Given the description of an element on the screen output the (x, y) to click on. 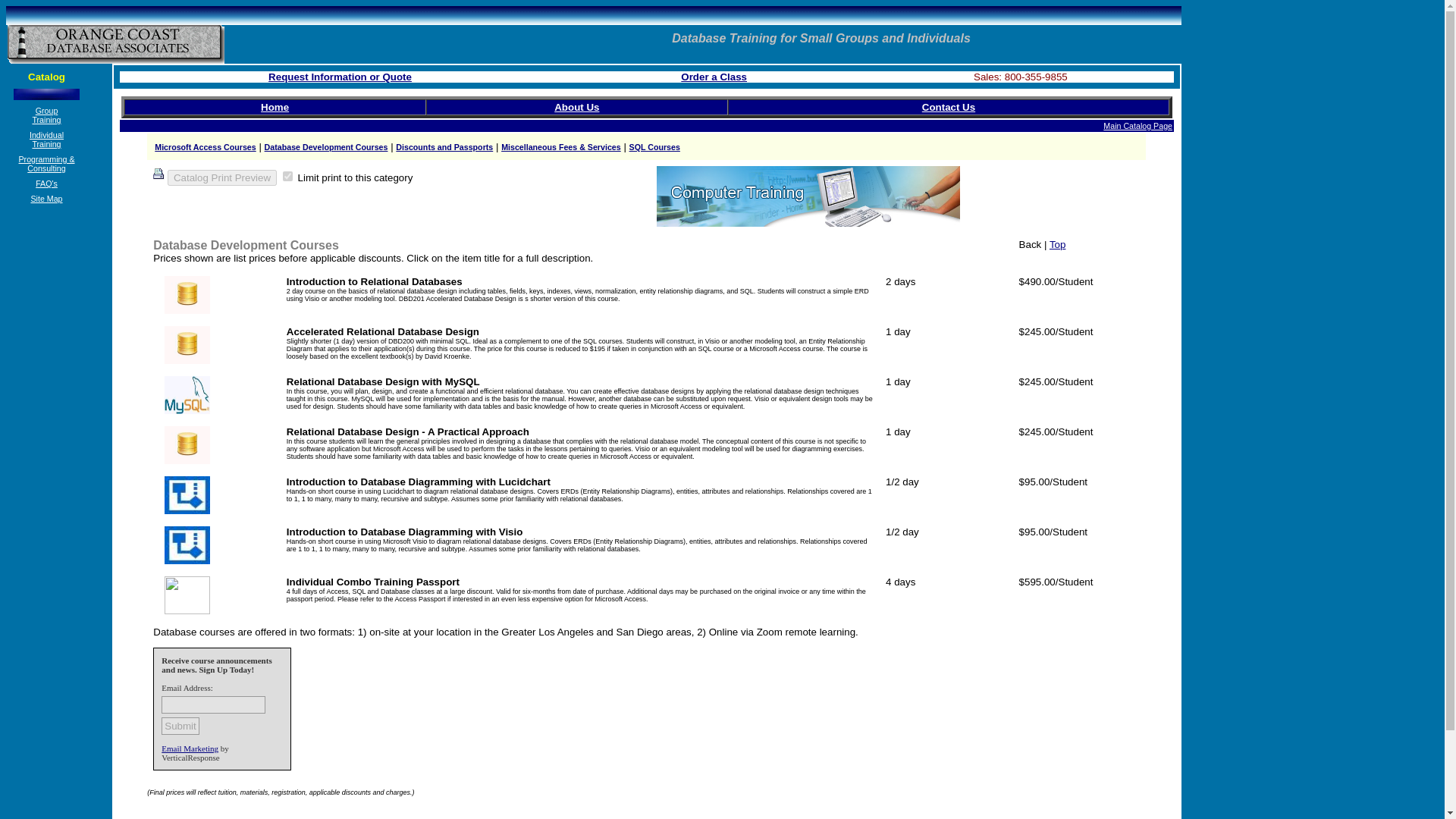
Top (1057, 244)
Click to order a class online (713, 76)
Email Marketing by VerticalResponse (189, 747)
Contact Us (948, 107)
Catalog Print Preview (221, 177)
SQL Courses (653, 146)
Introduction to Database Diagramming with Visio (404, 531)
Relational Database Design - A Practical Approach (407, 431)
Request Information or Quote (339, 76)
Relational Database Design with MySQL (383, 381)
About Us (576, 107)
Main Catalog Page (1137, 125)
Microsoft Access Courses (205, 146)
Y (287, 175)
